Given the description of an element on the screen output the (x, y) to click on. 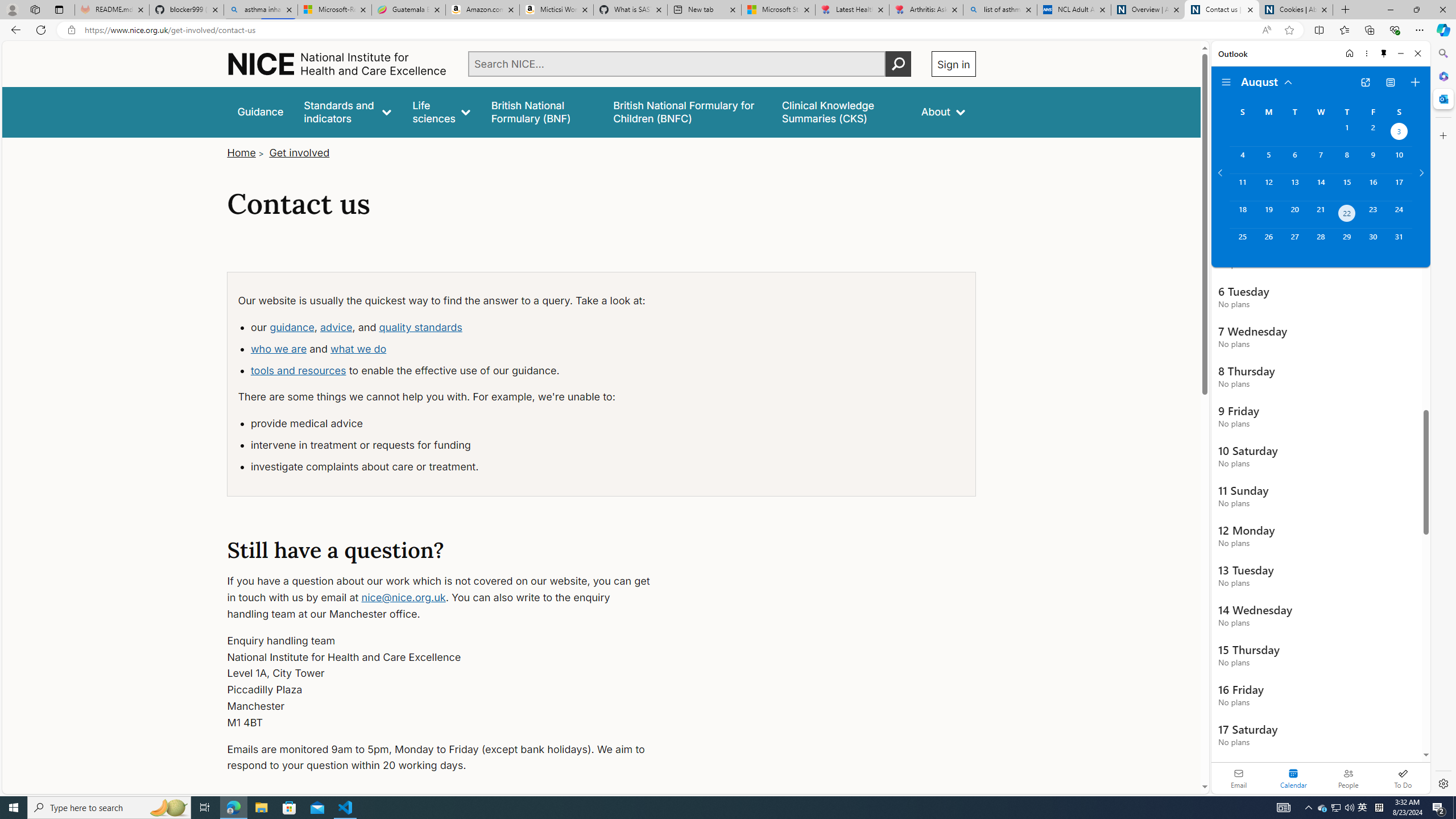
Create event (1414, 82)
August (1267, 80)
intervene in treatment or requests for funding (454, 444)
Monday, August 26, 2024.  (1268, 241)
Friday, August 9, 2024.  (1372, 159)
Contact us | Get involved | NICE (1221, 9)
